Given the description of an element on the screen output the (x, y) to click on. 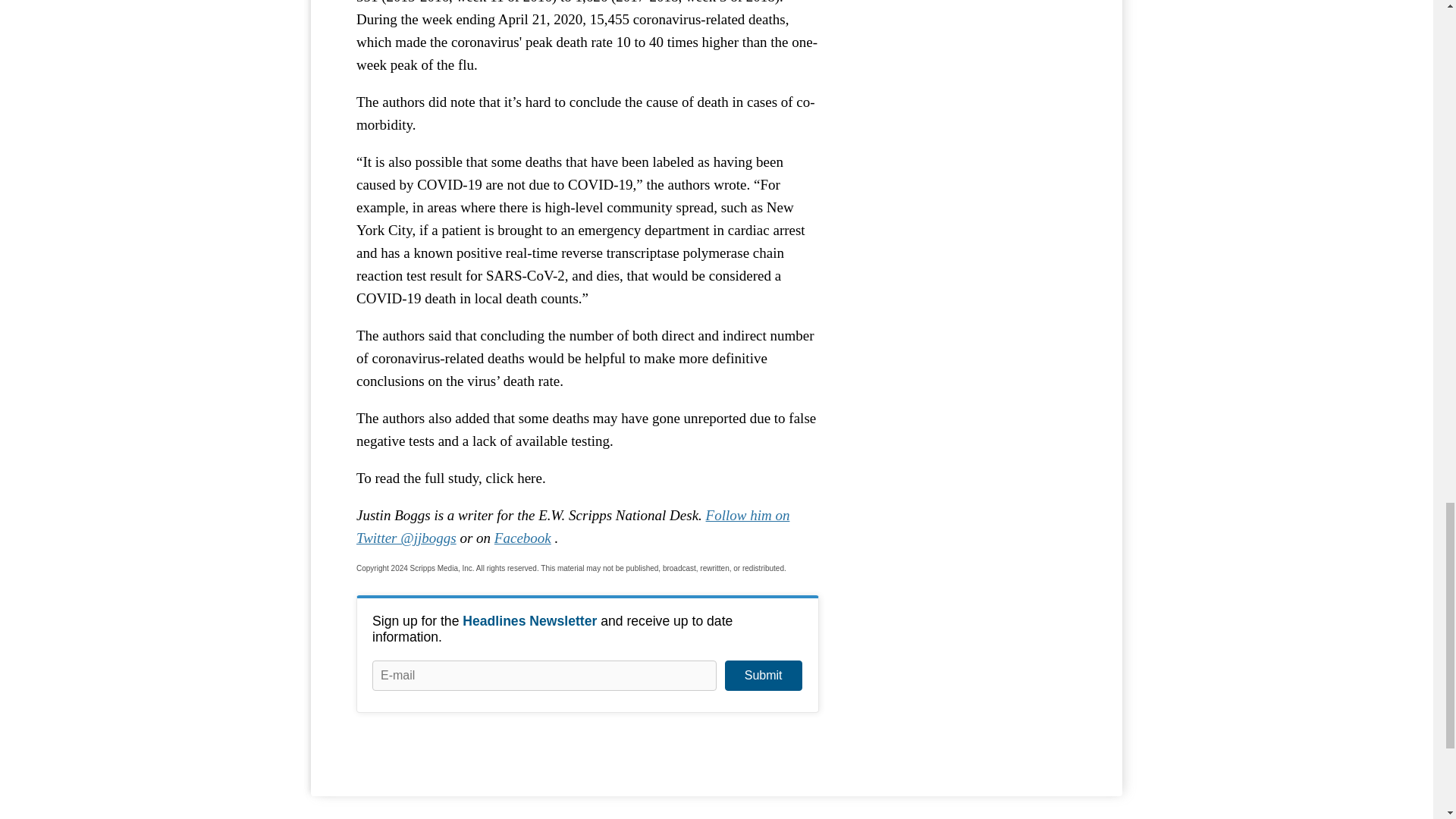
Submit (763, 675)
